Given the description of an element on the screen output the (x, y) to click on. 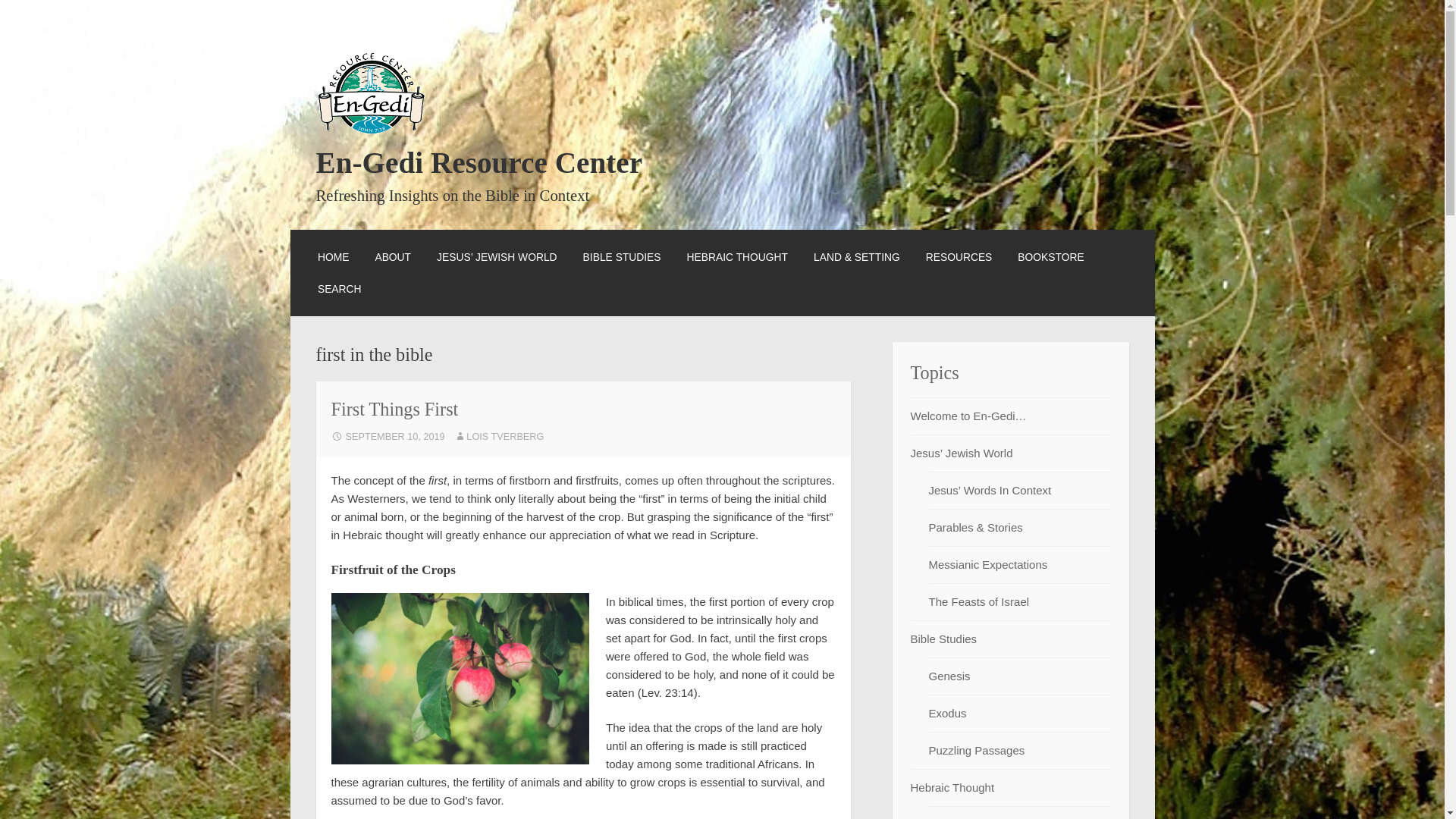
ABOUT (392, 256)
LOIS TVERBERG (498, 436)
BIBLE STUDIES (622, 256)
RESOURCES (959, 256)
SEPTEMBER 10, 2019 (387, 436)
En-Gedi Resource Center (478, 162)
View all posts by Lois Tverberg (498, 436)
En-Gedi Resource Center (478, 162)
SEARCH (339, 288)
HEBRAIC THOUGHT (737, 256)
First Things First (394, 408)
HOME (333, 256)
Permalink to First Things First (387, 436)
BOOKSTORE (1050, 256)
